Given the description of an element on the screen output the (x, y) to click on. 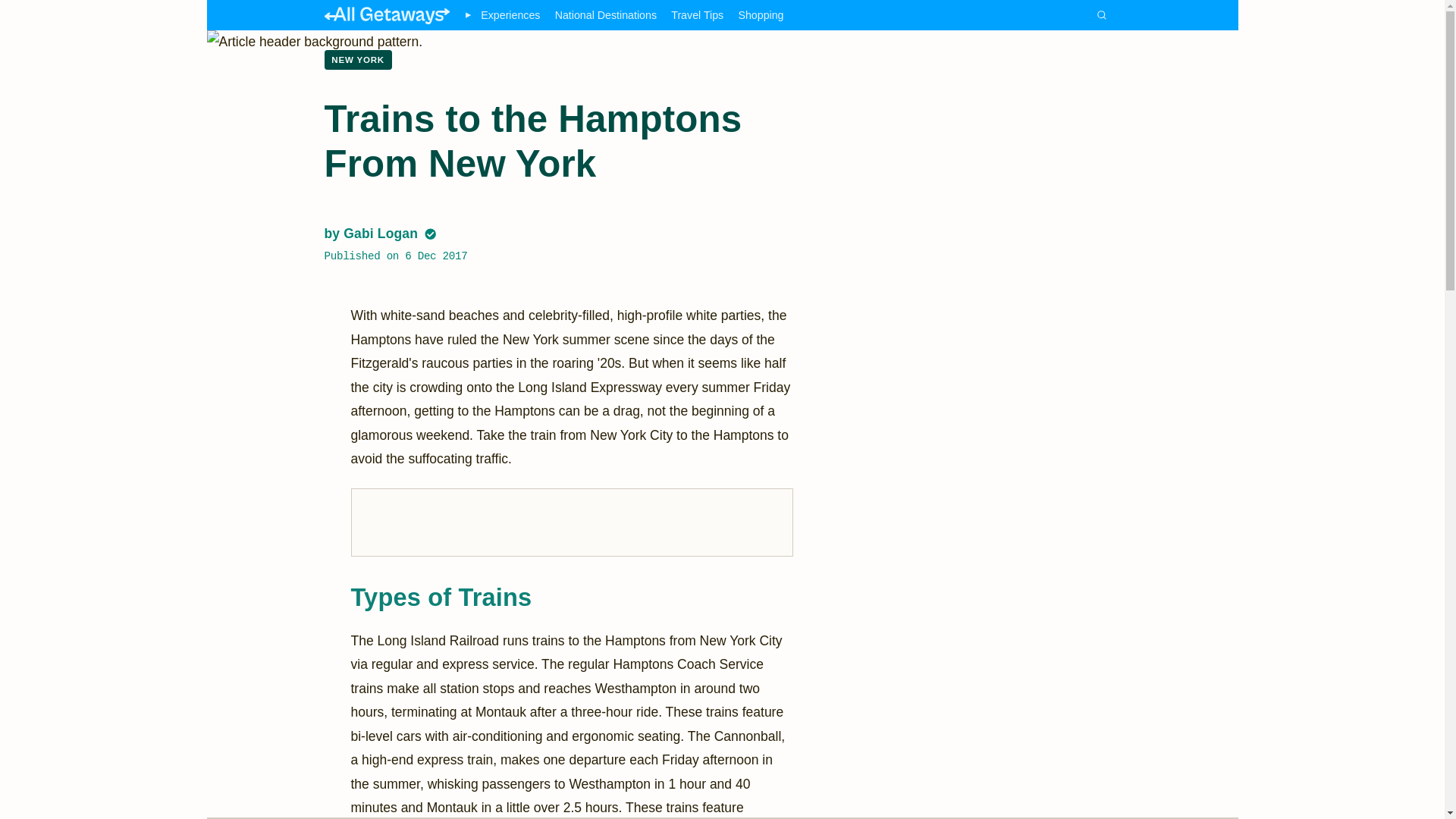
Travel Tips (697, 15)
Experiences (510, 15)
National Destinations (605, 15)
